Given the description of an element on the screen output the (x, y) to click on. 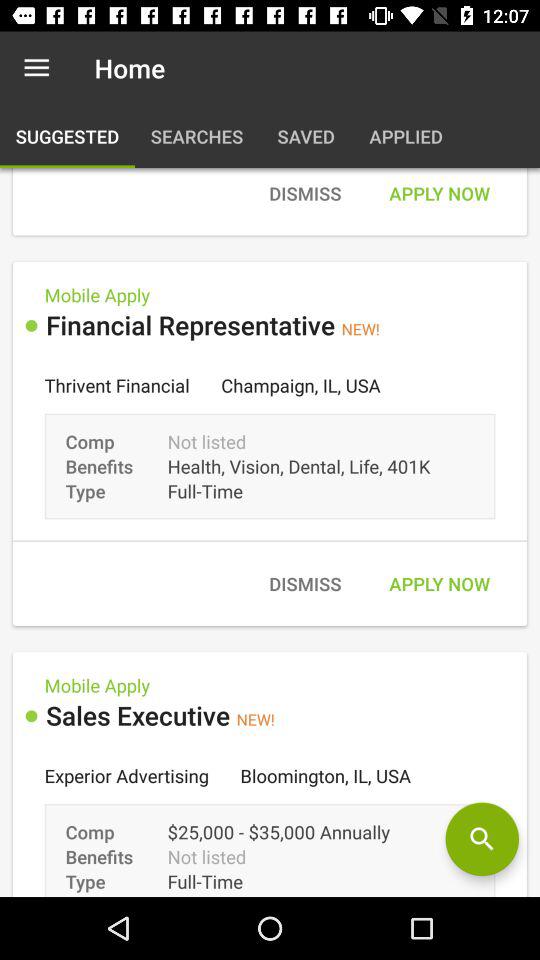
search jobs (482, 839)
